Given the description of an element on the screen output the (x, y) to click on. 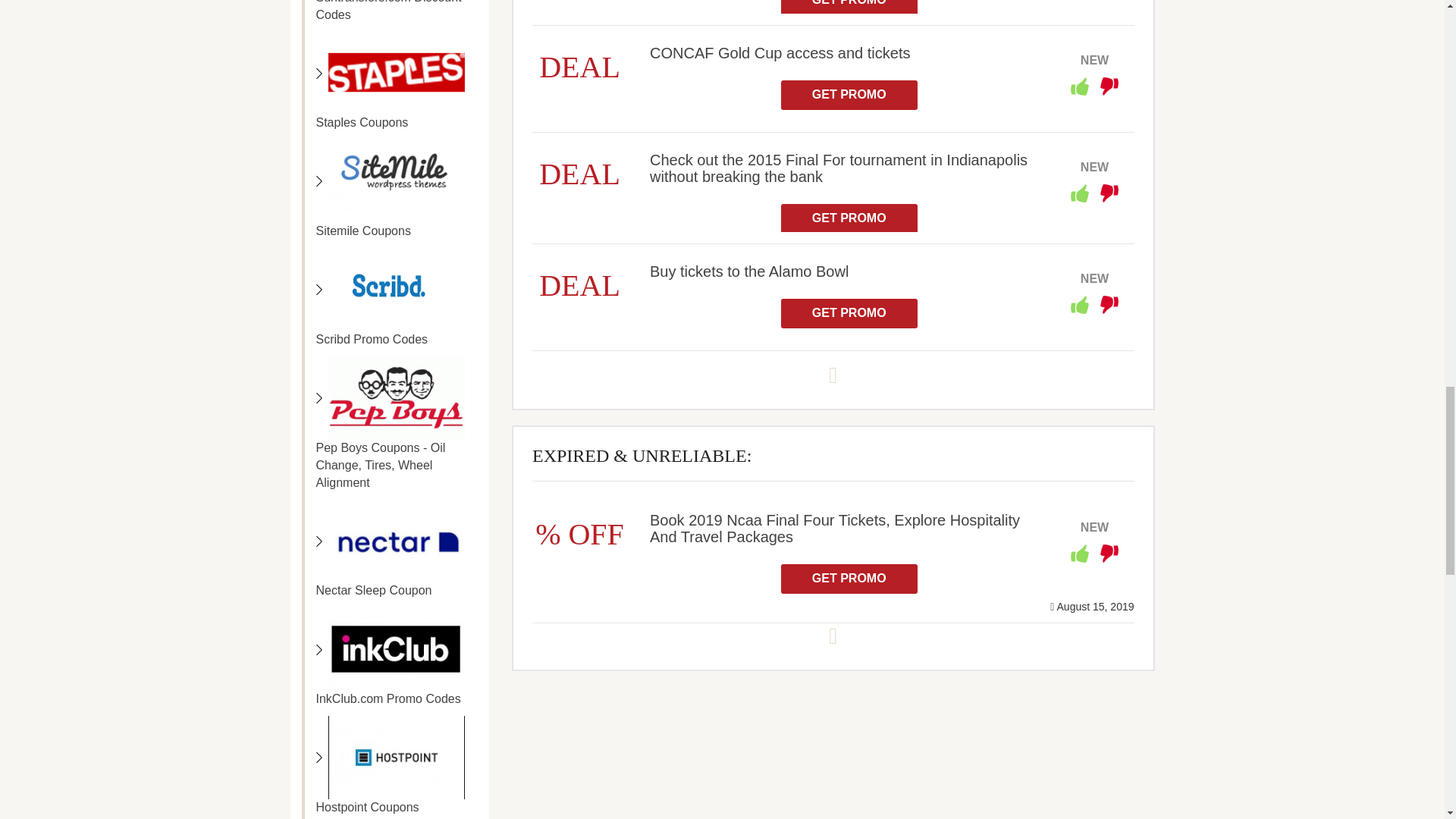
GET PROMO (848, 313)
GET PROMO (848, 218)
GET PROMO (848, 7)
GET PROMO (848, 94)
GET PROMO (848, 578)
